Given the description of an element on the screen output the (x, y) to click on. 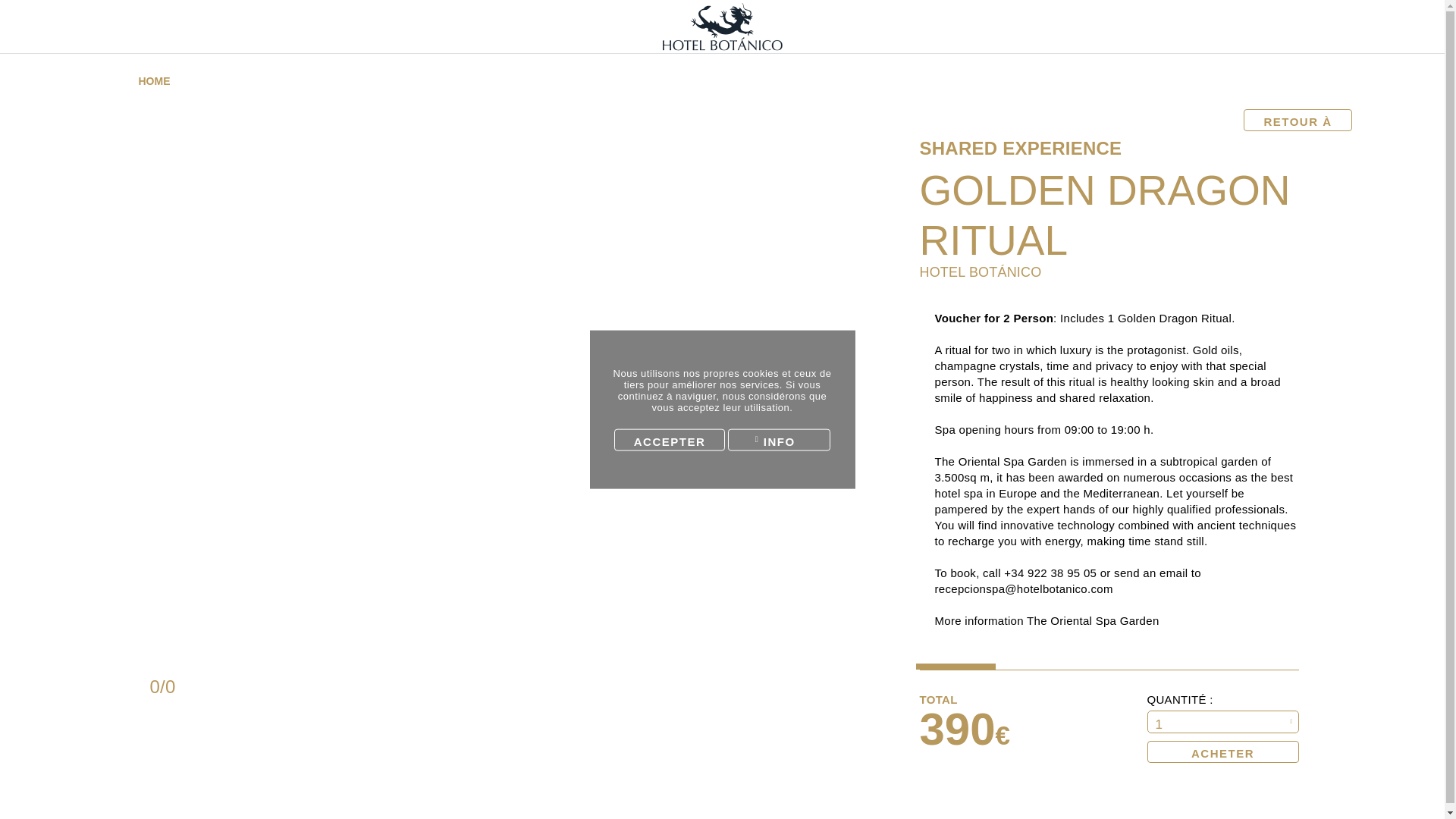
More information The Oriental Spa Garden (1046, 620)
HOME (159, 80)
INFO (778, 439)
ACHETER (1222, 751)
